Given the description of an element on the screen output the (x, y) to click on. 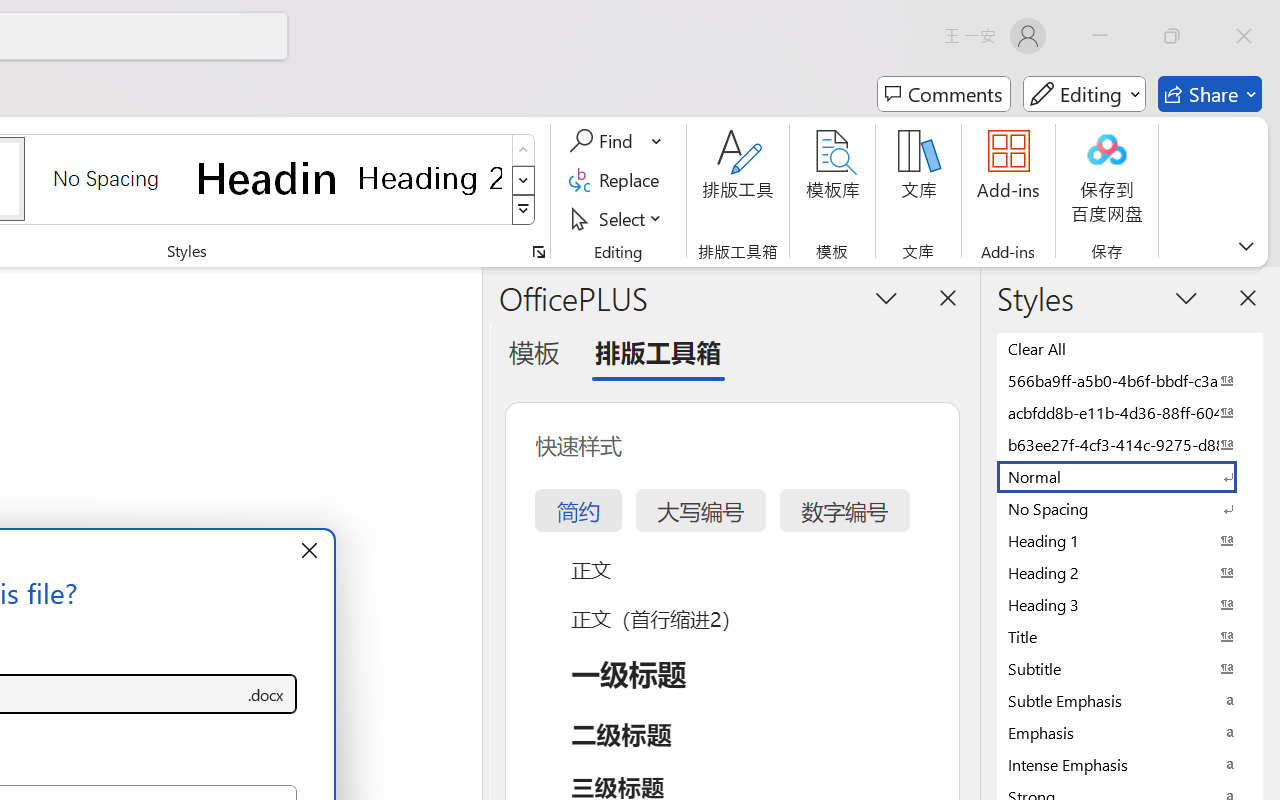
Ribbon Display Options (1246, 245)
Subtitle (1130, 668)
Share (1210, 94)
Intense Emphasis (1130, 764)
Heading 3 (1130, 604)
Emphasis (1130, 732)
Row Down (523, 180)
Save as type (265, 694)
Comments (943, 94)
